Given the description of an element on the screen output the (x, y) to click on. 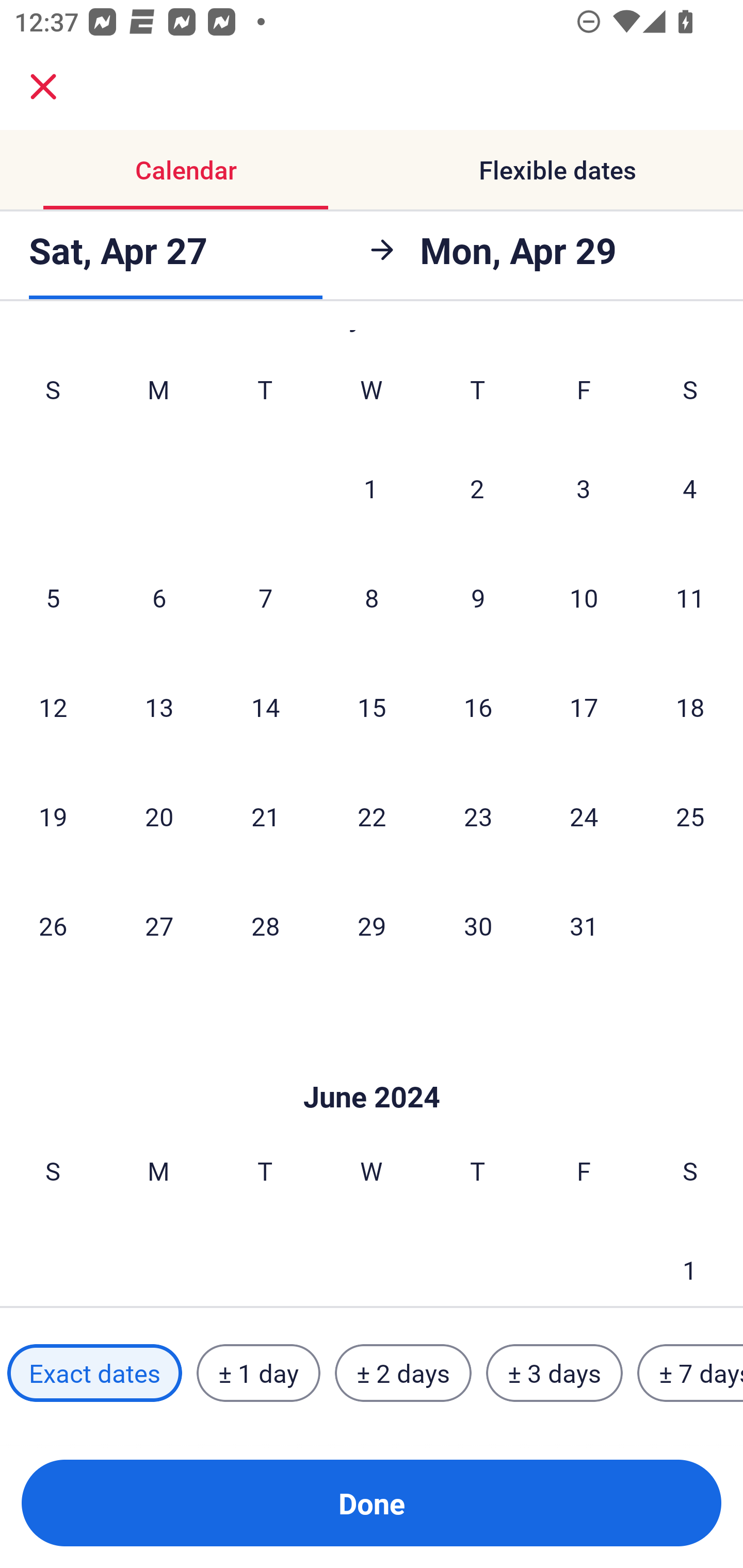
close. (43, 86)
Flexible dates (557, 170)
1 Wednesday, May 1, 2024 (371, 487)
2 Thursday, May 2, 2024 (477, 487)
3 Friday, May 3, 2024 (583, 487)
4 Saturday, May 4, 2024 (689, 487)
5 Sunday, May 5, 2024 (53, 597)
6 Monday, May 6, 2024 (159, 597)
7 Tuesday, May 7, 2024 (265, 597)
8 Wednesday, May 8, 2024 (371, 597)
9 Thursday, May 9, 2024 (477, 597)
10 Friday, May 10, 2024 (584, 597)
11 Saturday, May 11, 2024 (690, 597)
12 Sunday, May 12, 2024 (53, 706)
13 Monday, May 13, 2024 (159, 706)
14 Tuesday, May 14, 2024 (265, 706)
15 Wednesday, May 15, 2024 (371, 706)
16 Thursday, May 16, 2024 (477, 706)
17 Friday, May 17, 2024 (584, 706)
18 Saturday, May 18, 2024 (690, 706)
19 Sunday, May 19, 2024 (53, 815)
20 Monday, May 20, 2024 (159, 815)
21 Tuesday, May 21, 2024 (265, 815)
22 Wednesday, May 22, 2024 (371, 815)
23 Thursday, May 23, 2024 (477, 815)
24 Friday, May 24, 2024 (584, 815)
25 Saturday, May 25, 2024 (690, 815)
26 Sunday, May 26, 2024 (53, 925)
27 Monday, May 27, 2024 (159, 925)
28 Tuesday, May 28, 2024 (265, 925)
29 Wednesday, May 29, 2024 (371, 925)
30 Thursday, May 30, 2024 (477, 925)
31 Friday, May 31, 2024 (584, 925)
Skip to Done (371, 1066)
1 Saturday, June 1, 2024 (689, 1261)
Exact dates (94, 1372)
± 1 day (258, 1372)
± 2 days (403, 1372)
± 3 days (553, 1372)
± 7 days (690, 1372)
Done (371, 1502)
